Given the description of an element on the screen output the (x, y) to click on. 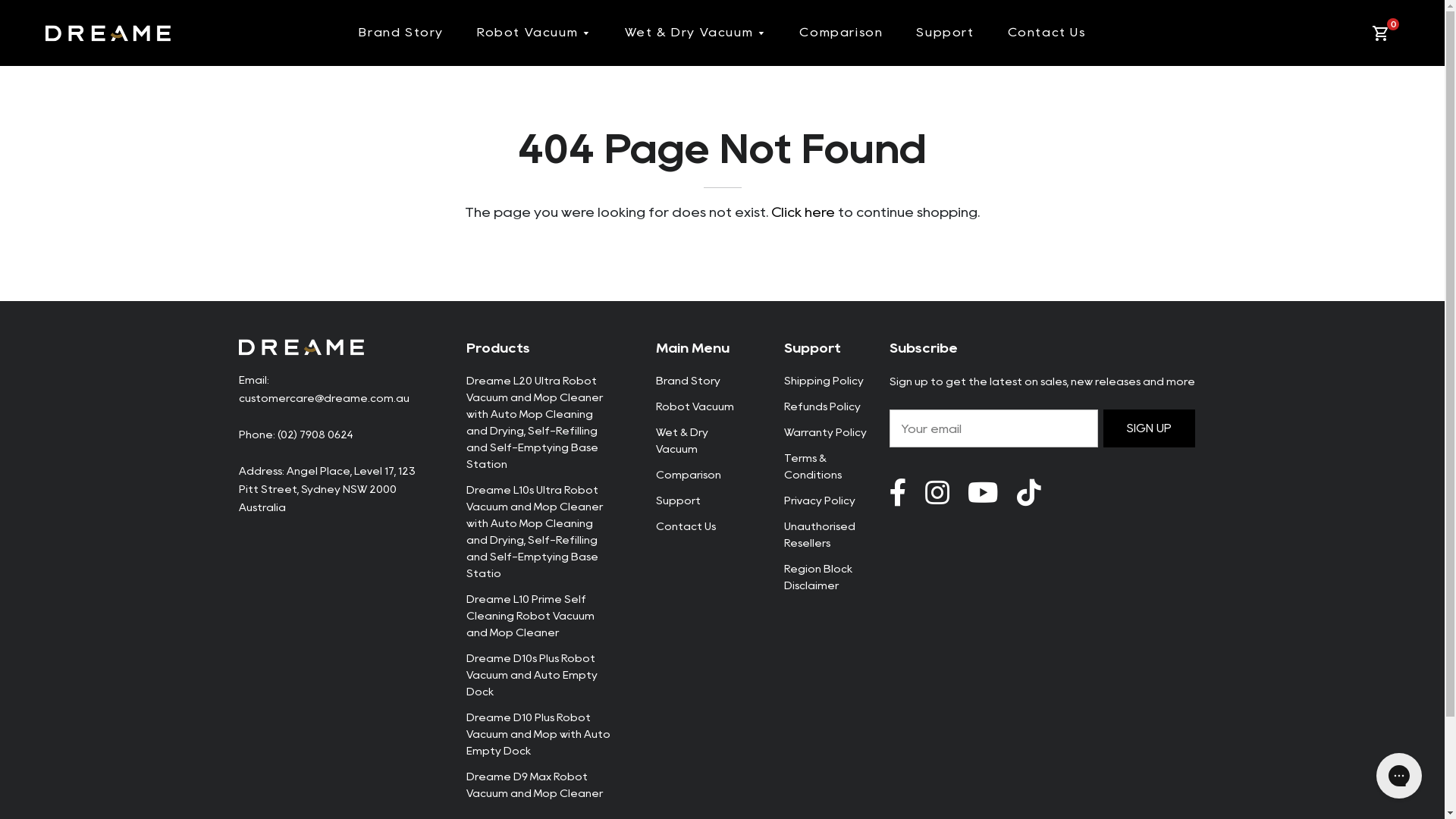
Support Element type: text (677, 500)
Gorgias live chat messenger Element type: hover (1398, 775)
Wet & Dry Vacuum Element type: text (681, 440)
Contact Us Element type: text (1046, 32)
Comparison Element type: text (687, 474)
Refunds Policy Element type: text (822, 406)
Dreame Technology Australia on Instagram Element type: hover (937, 492)
Dreame D10 Plus Robot Vacuum and Mop with Auto Empty Dock Element type: text (537, 733)
Dreame D10s Plus Robot Vacuum and Auto Empty Dock Element type: text (530, 674)
Robot Vacuum Element type: text (694, 406)
Warranty Policy Element type: text (825, 431)
Shipping Policy Element type: text (823, 380)
Terms & Conditions Element type: text (812, 466)
Wet & Dry Vacuum Element type: text (695, 33)
Dreame D9 Max Robot Vacuum and Mop Cleaner Element type: text (533, 784)
Privacy Policy Element type: text (819, 500)
Support Element type: text (944, 32)
Dreame Technology Australia on YouTube Element type: hover (982, 492)
Click here Element type: text (802, 212)
Dreame Technology Australia on YouTube Element type: hover (1028, 492)
Region Block Disclaimer Element type: text (818, 576)
CART
0 Element type: text (1383, 32)
Unauthorised Resellers Element type: text (819, 534)
Brand Story Element type: text (400, 32)
SIGN UP Element type: text (1149, 428)
Dreame L10 Prime Self Cleaning Robot Vacuum and Mop Cleaner Element type: text (529, 615)
Comparison Element type: text (840, 32)
Brand Story Element type: text (687, 380)
Robot Vacuum Element type: text (533, 33)
Dreame Technology Australia on Facebook Element type: hover (897, 492)
Contact Us Element type: text (685, 525)
